Given the description of an element on the screen output the (x, y) to click on. 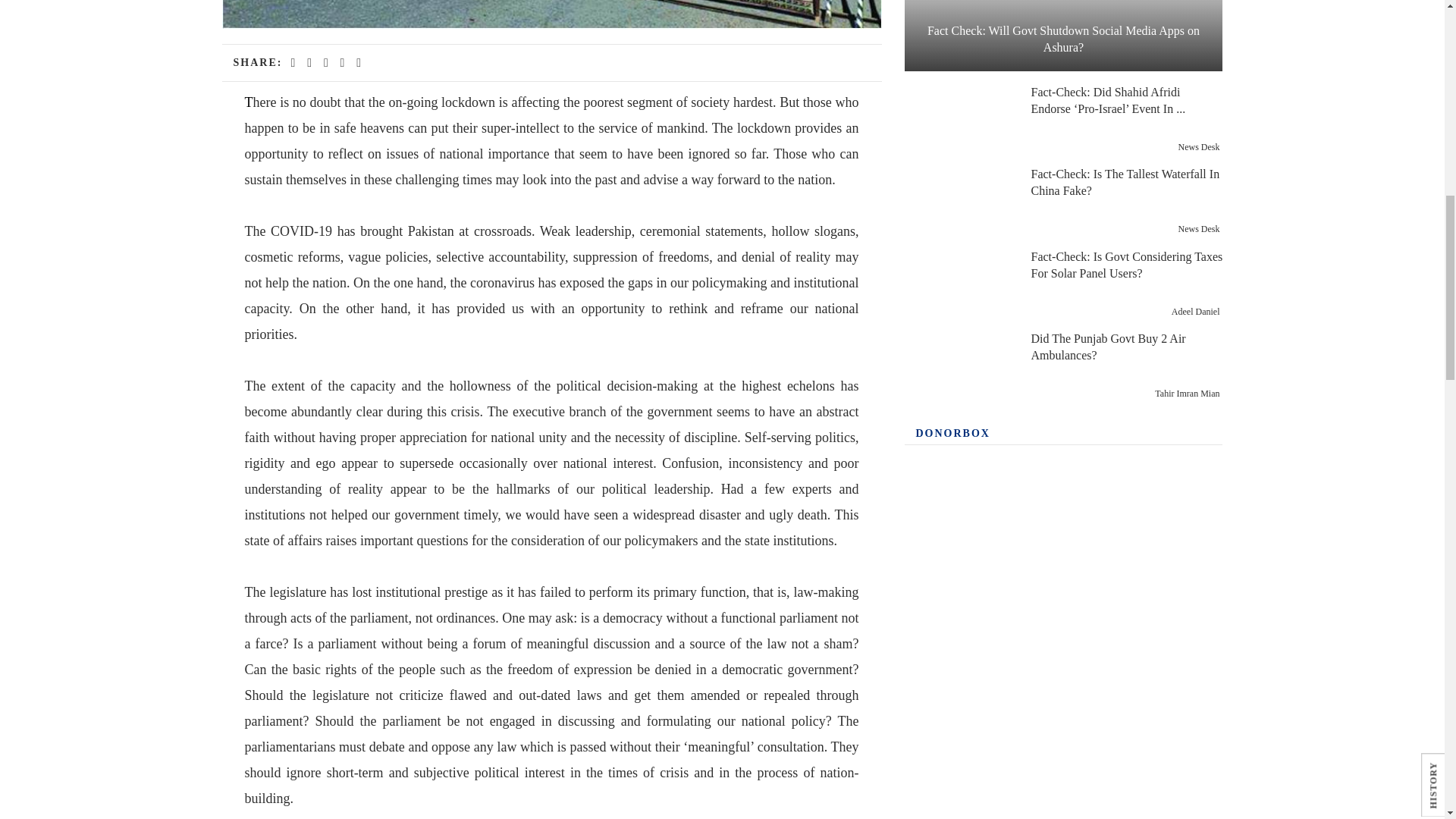
Fact-Check: Is Govt Considering Taxes For Solar Panel Users? (959, 283)
Fact-Check: Is The Tallest Waterfall In China Fake? (959, 201)
Fact Check: Will Govt Shutdown Social Media Apps on Ashura? (1063, 35)
Did The Punjab Govt Buy 2 Air Ambulances? (959, 365)
